Given the description of an element on the screen output the (x, y) to click on. 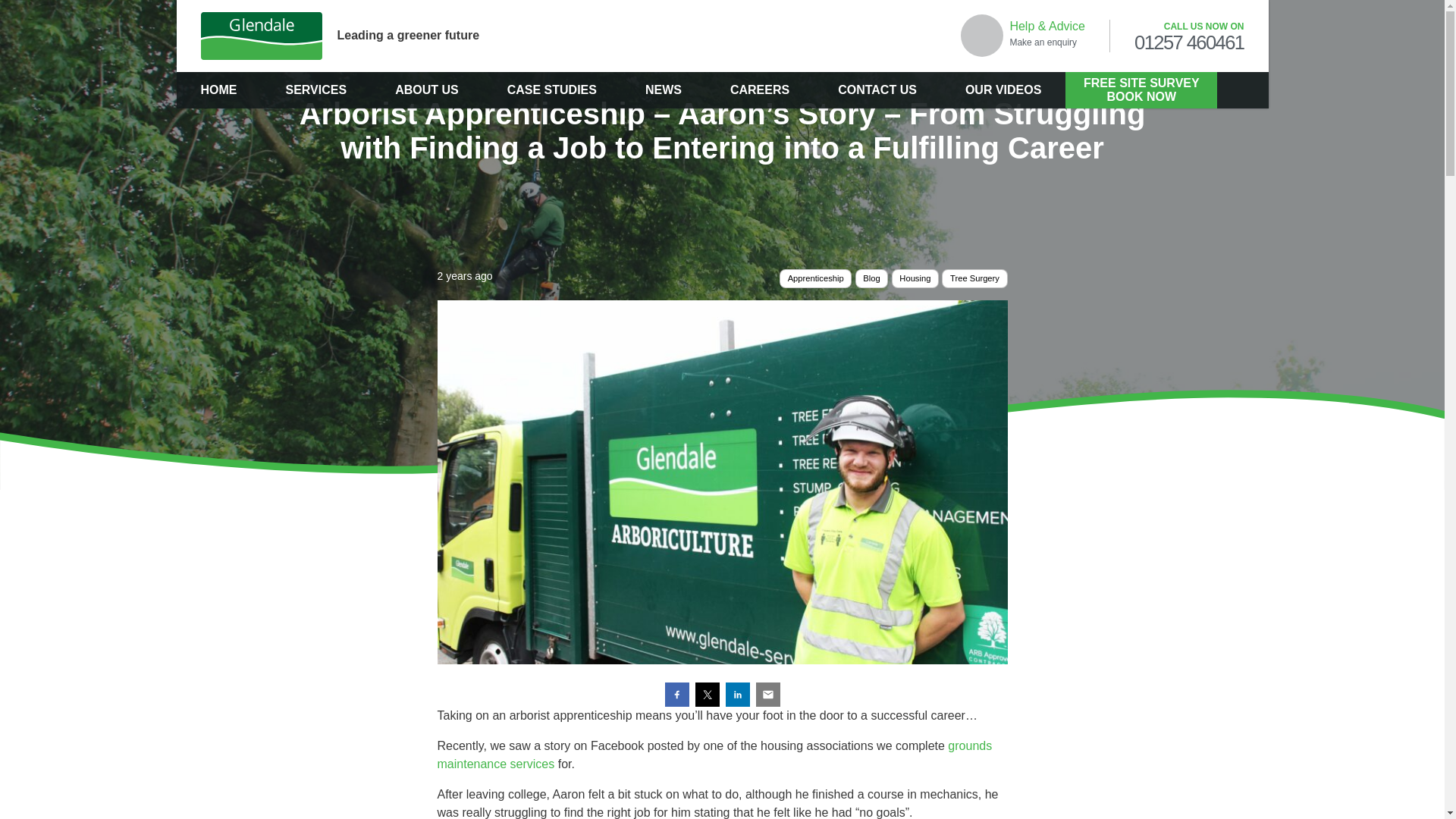
01257 460461 (1189, 43)
SERVICES (315, 90)
HOME (218, 90)
Leading a greener future (359, 35)
